Given the description of an element on the screen output the (x, y) to click on. 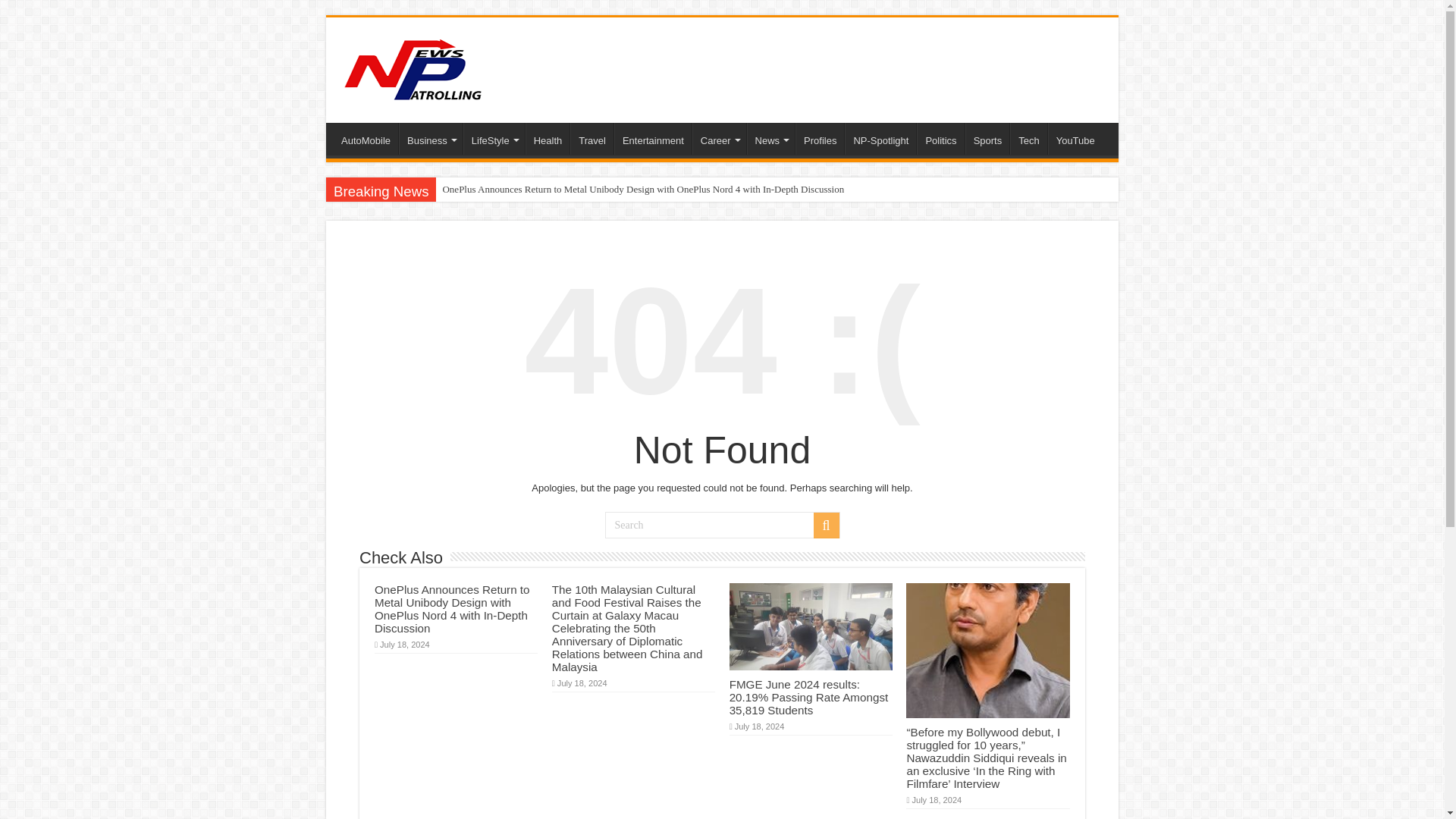
Travel (591, 138)
LifeStyle (493, 138)
Health (547, 138)
AutoMobile (365, 138)
Newspatrolling.com (413, 67)
Business (430, 138)
Search (722, 524)
